Given the description of an element on the screen output the (x, y) to click on. 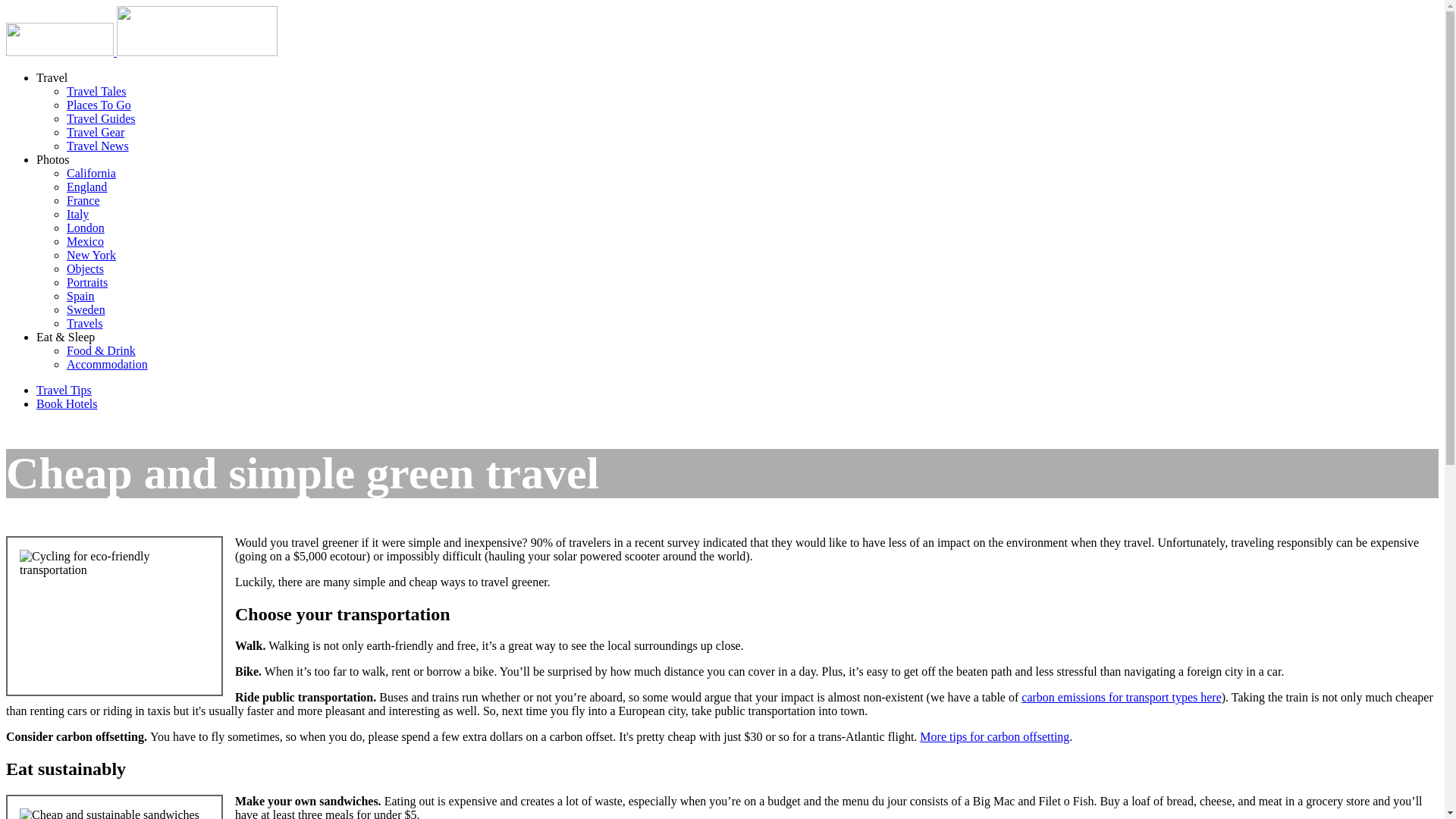
Objects (84, 268)
Travel Guides (100, 118)
California (91, 173)
Travel Gear (94, 132)
Photos (52, 159)
Sweden (85, 309)
Accommodation (107, 364)
Spain (80, 295)
England (86, 186)
New York (91, 254)
carbon emissions for transport types here (1121, 697)
Mexico (84, 241)
Italy (77, 214)
Places To Go (98, 104)
Travel News (97, 145)
